Given the description of an element on the screen output the (x, y) to click on. 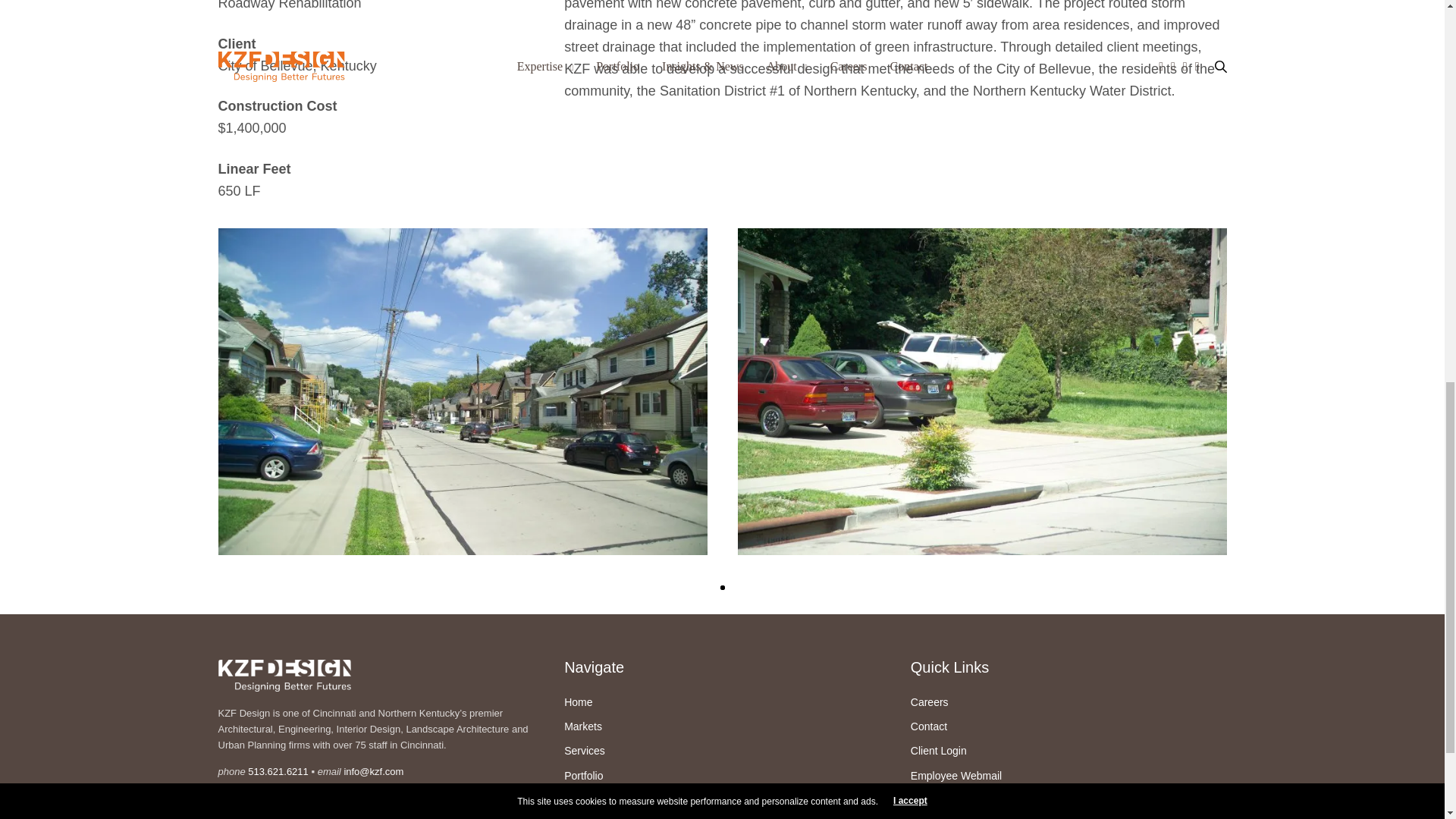
Scroll To Top (1420, 25)
Home (578, 702)
Portfolio (583, 775)
513.621.6211 (277, 771)
Careers (930, 702)
Contact (929, 726)
Markets (583, 726)
Services (584, 750)
